Given the description of an element on the screen output the (x, y) to click on. 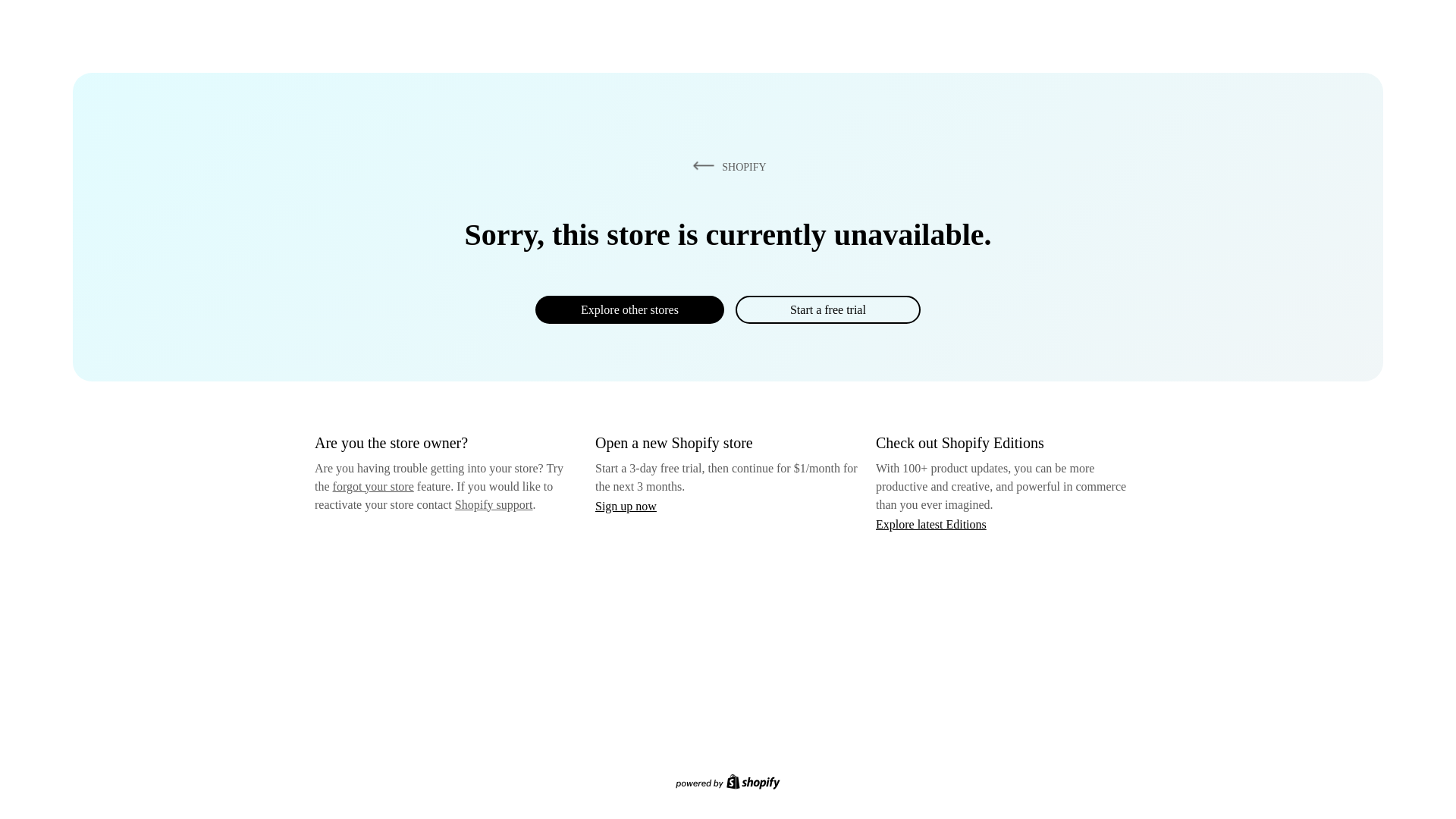
Start a free trial (827, 309)
Explore other stores (629, 309)
Sign up now (625, 505)
forgot your store (373, 486)
SHOPIFY (726, 166)
Shopify support (493, 504)
Explore latest Editions (931, 523)
